Given the description of an element on the screen output the (x, y) to click on. 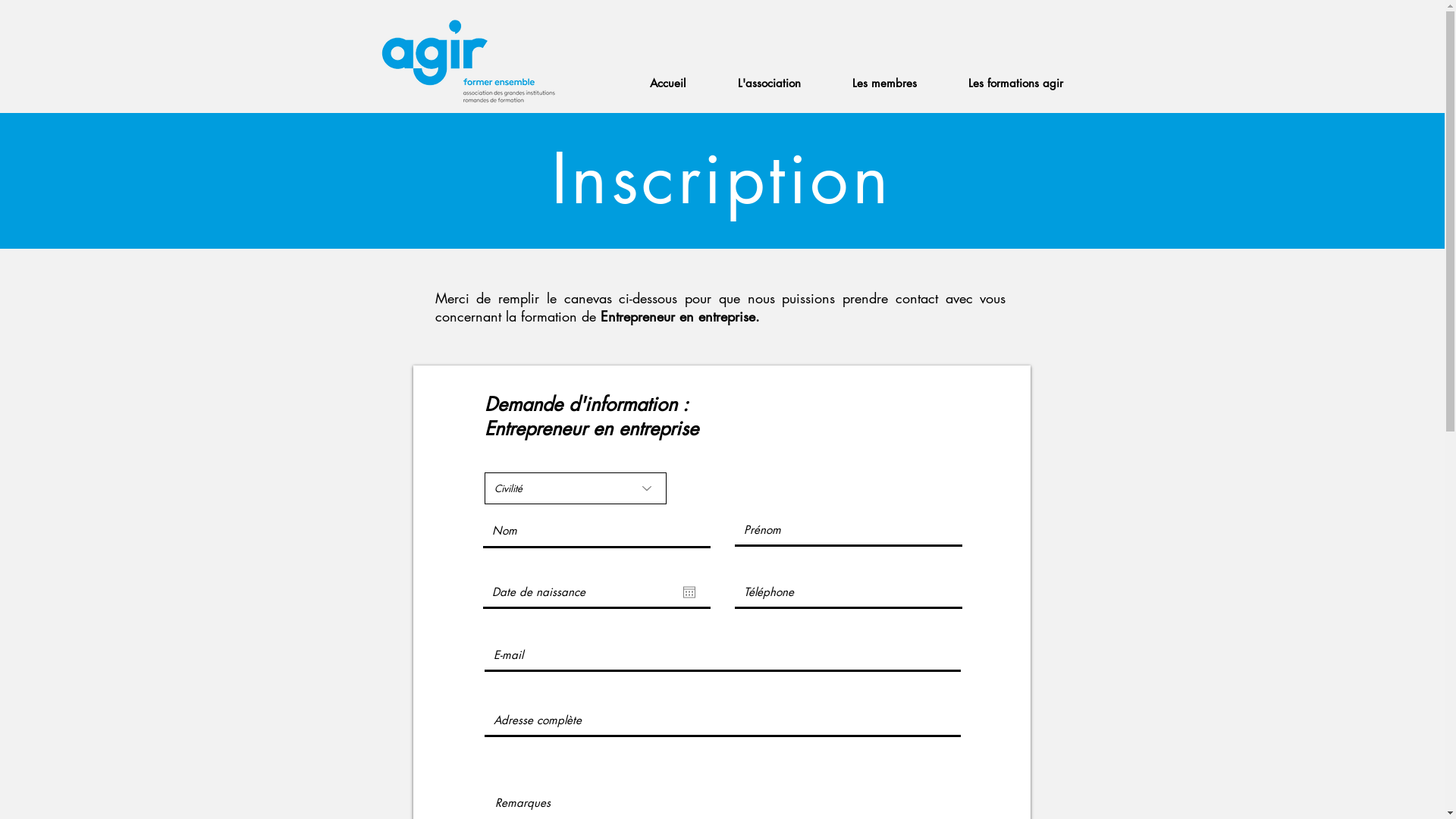
Accueil Element type: text (667, 83)
L'association Element type: text (768, 83)
